Given the description of an element on the screen output the (x, y) to click on. 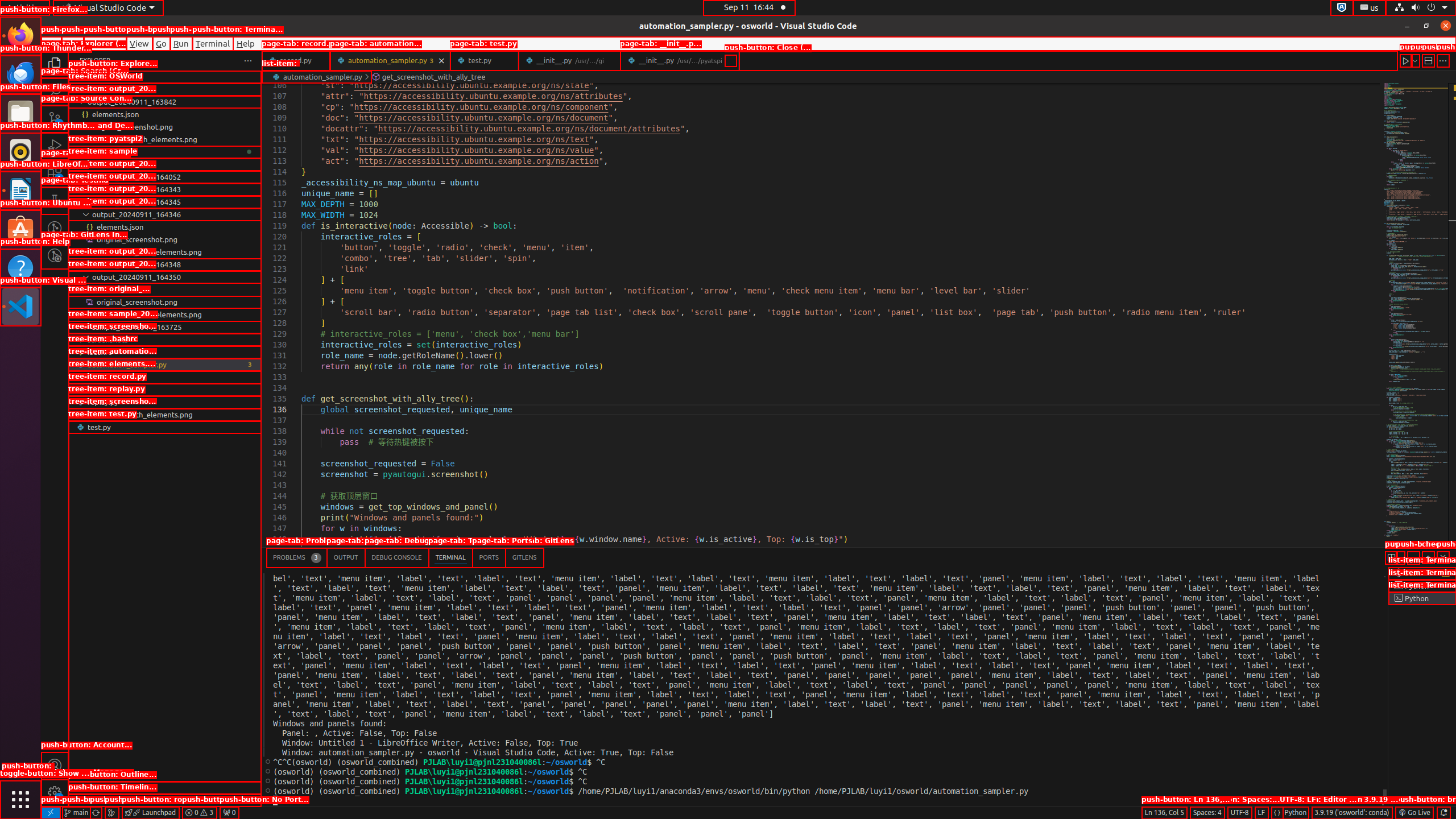
Go Element type: push-button (161, 43)
screenshot_with_elements.png Element type: tree-item (164, 414)
File Element type: push-button (50, 43)
